Given the description of an element on the screen output the (x, y) to click on. 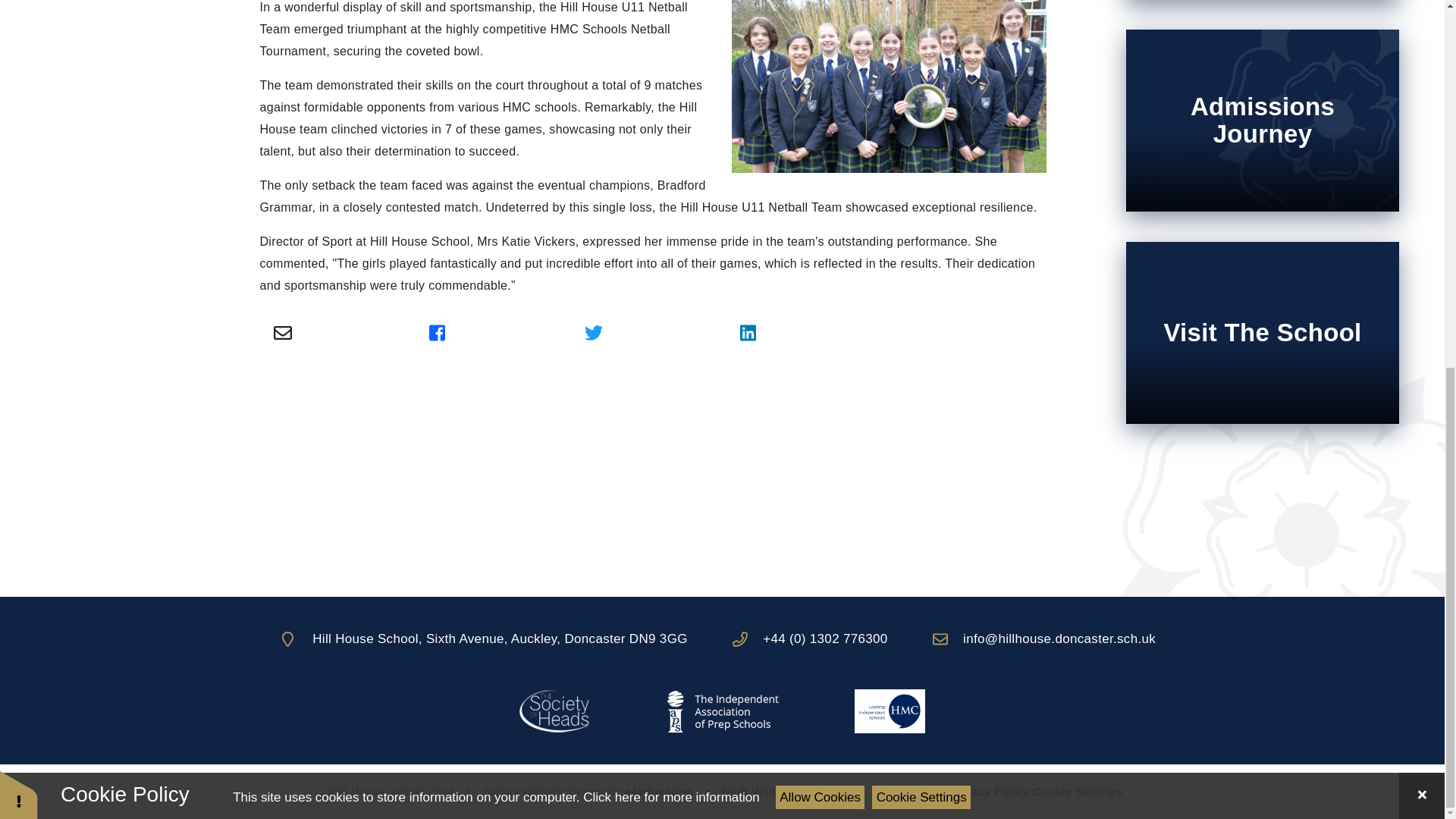
Allow Cookies (820, 134)
Cookie Settings (1077, 790)
See cookie policy (670, 134)
Cookie Settings (921, 134)
